Given the description of an element on the screen output the (x, y) to click on. 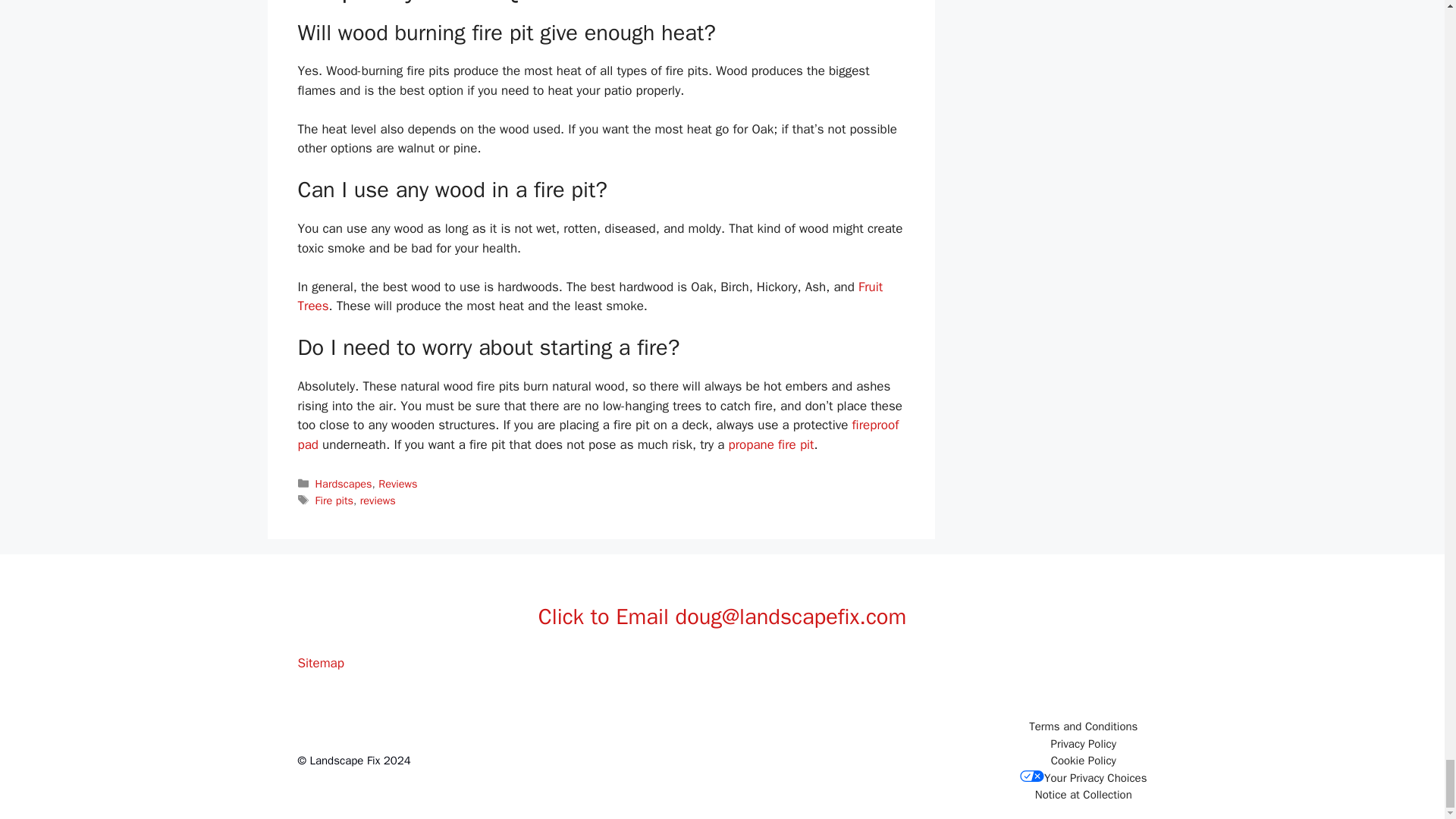
propane fire pit (771, 444)
Terms and Conditions (1083, 726)
Hardscapes (343, 483)
Fruit Trees (589, 296)
Reviews (397, 483)
Privacy Policy (1082, 744)
fireproof pad (597, 434)
Cookie Policy (1083, 760)
